Given the description of an element on the screen output the (x, y) to click on. 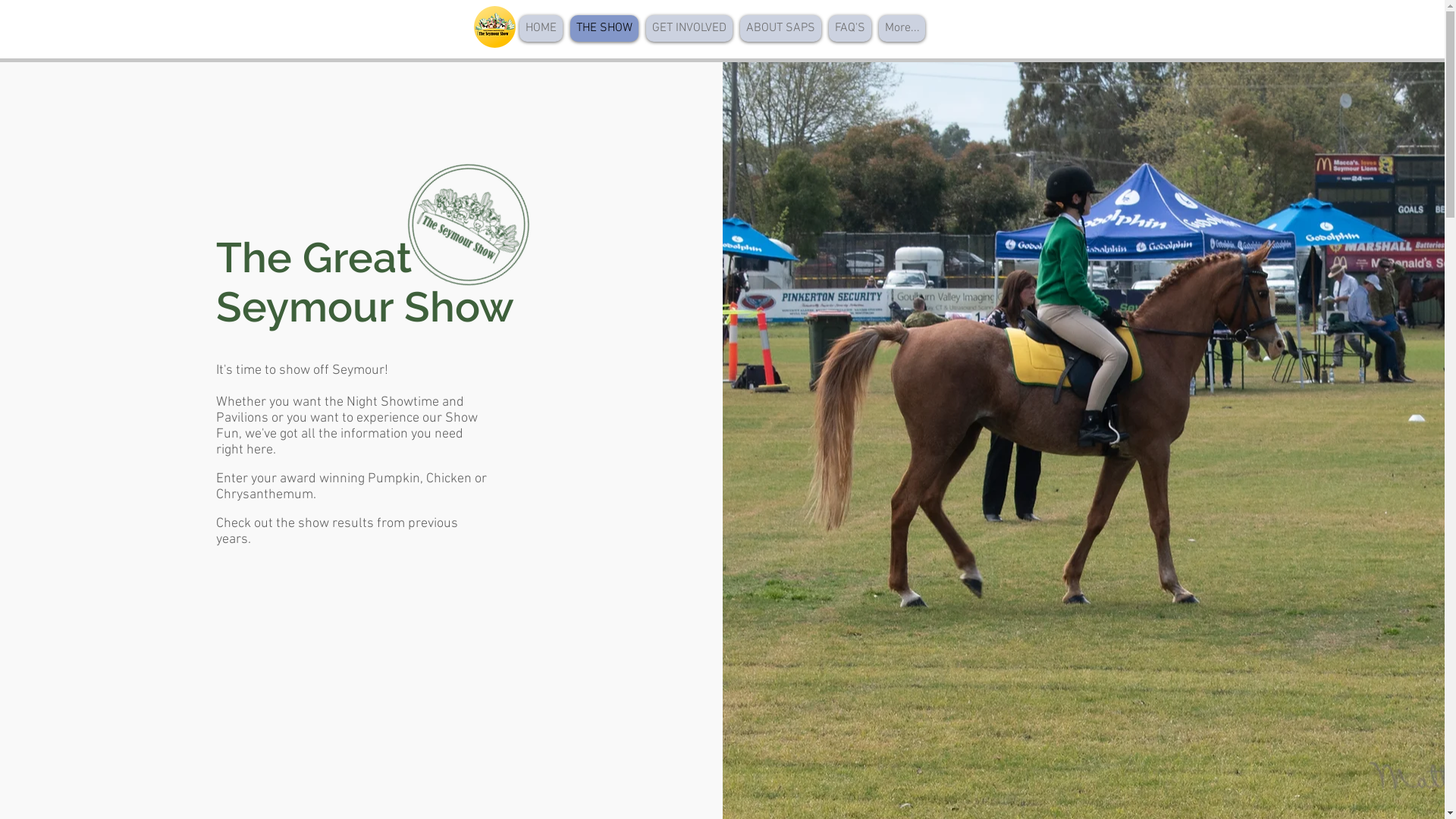
ABOUT SAPS Element type: text (780, 28)
THE SHOW Element type: text (604, 28)
FAQ'S Element type: text (849, 28)
GET INVOLVED Element type: text (689, 28)
Logo circle low.png Element type: hover (494, 26)
HOME Element type: text (540, 28)
